Given the description of an element on the screen output the (x, y) to click on. 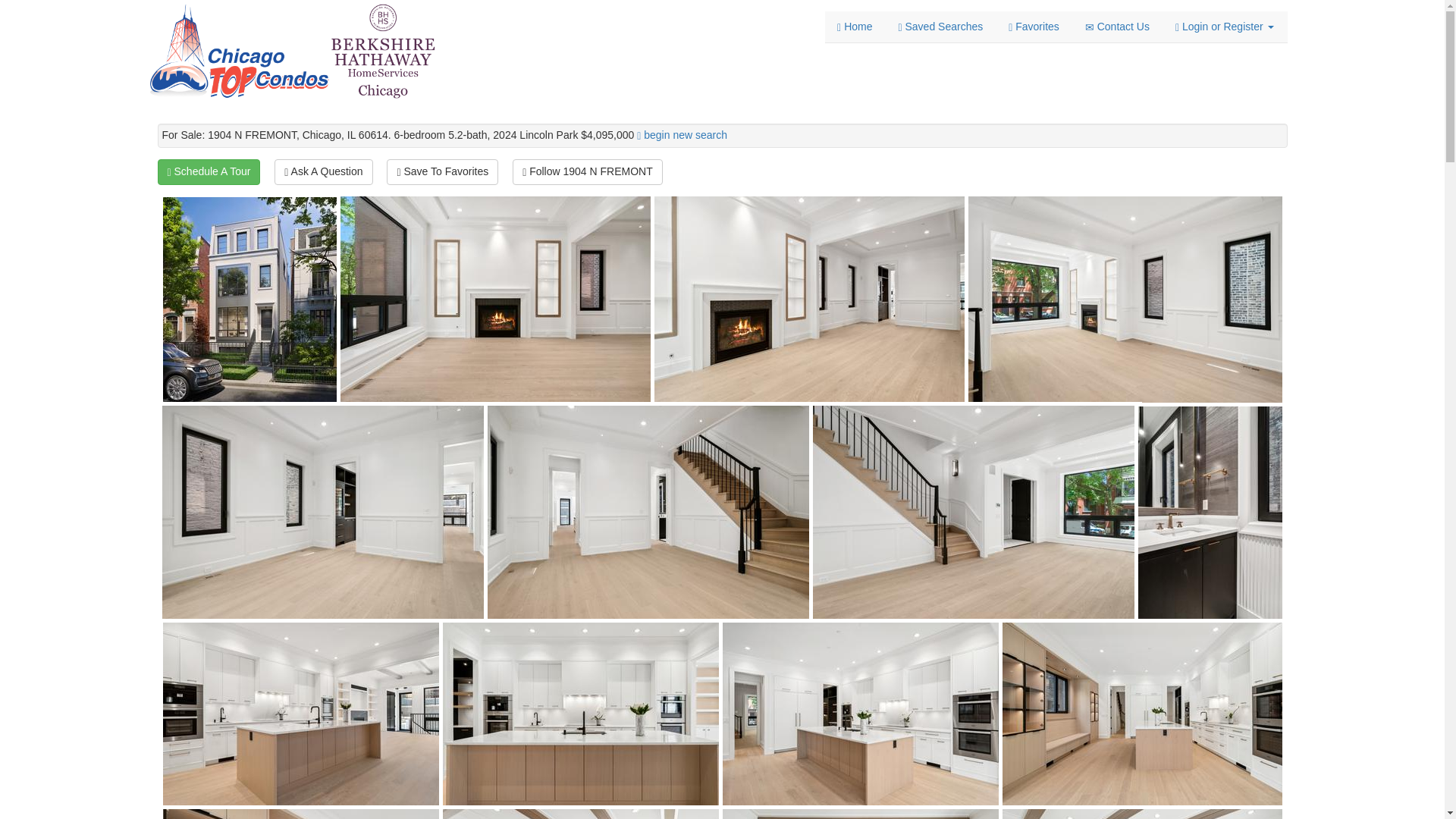
Follow 1904 N FREMONT (587, 171)
Saved Searches (939, 27)
begin new search (684, 134)
Favorites (1033, 27)
Save To Favorites (442, 171)
Schedule A Tour (208, 171)
Contact Us (1117, 27)
Login or Register (1224, 27)
Home (854, 27)
Ask A Question (323, 171)
